Given the description of an element on the screen output the (x, y) to click on. 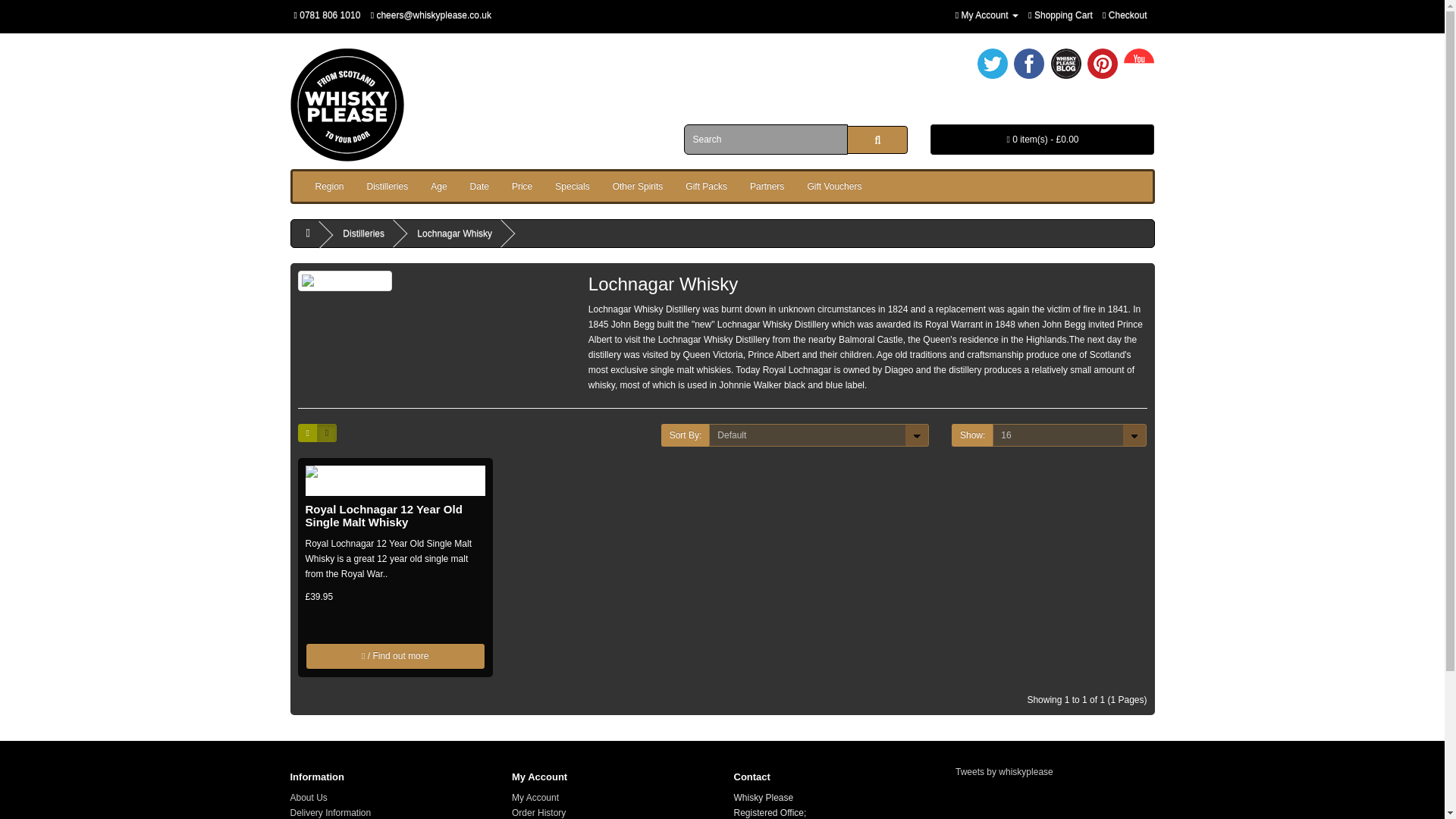
Checkout (1124, 14)
Lochnagar Whisky (344, 281)
Checkout (1124, 14)
My Account (986, 14)
Whisky Please (346, 104)
Shopping Cart (1059, 14)
Distilleries (387, 186)
My Account (986, 14)
Shopping Cart (1059, 14)
Royal Lochnagar 12 Year Old Single Malt Whisky (394, 481)
Region (328, 186)
